Given the description of an element on the screen output the (x, y) to click on. 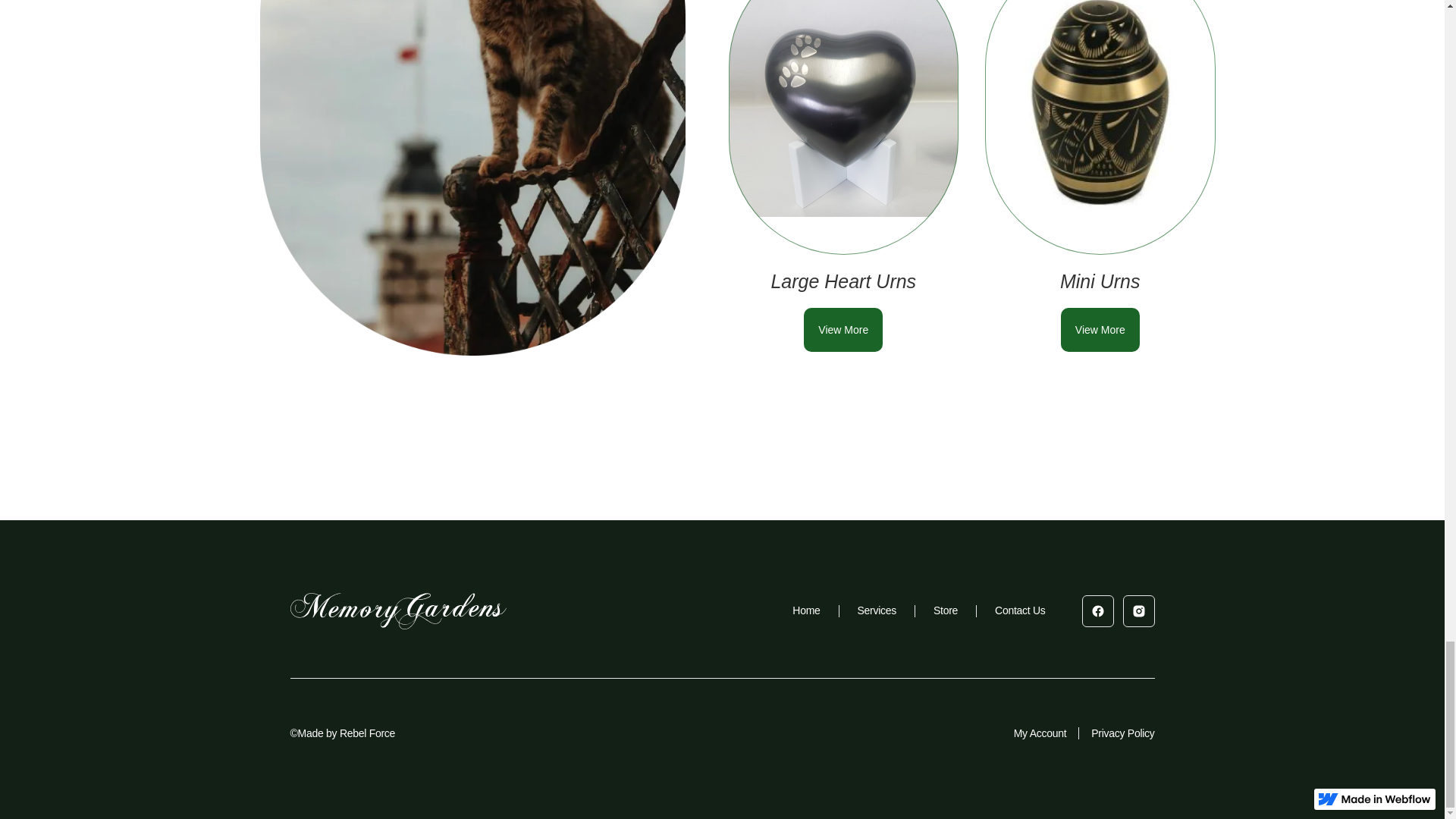
Contact Us (1019, 610)
My Account (1040, 733)
Store (945, 610)
Home (805, 610)
View More (842, 329)
View More (1100, 329)
Privacy Policy (1122, 733)
Services (876, 610)
